Given the description of an element on the screen output the (x, y) to click on. 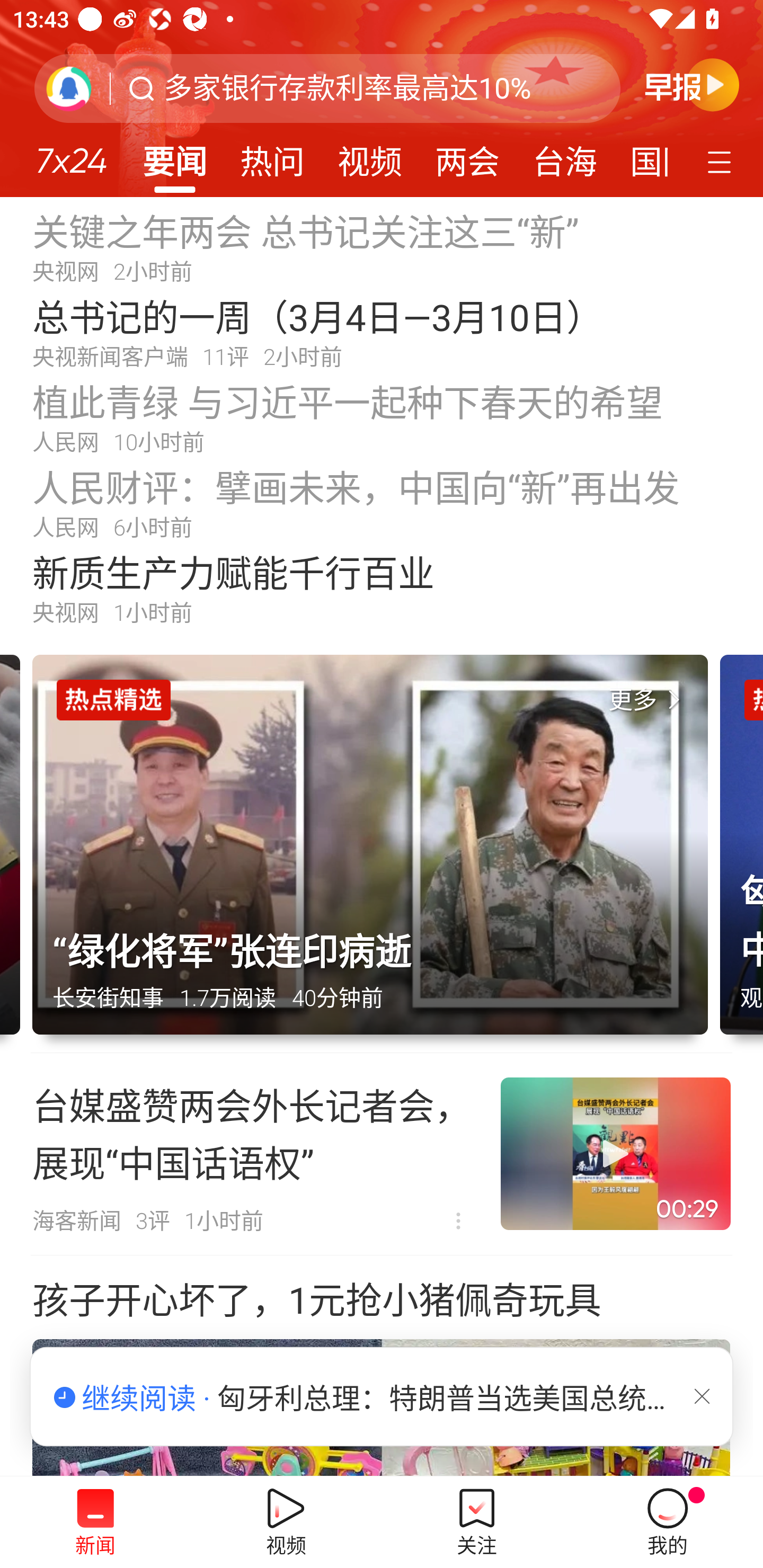
早晚报 (691, 84)
刷新 (68, 88)
多家银行存款利率最高达10% (347, 88)
7x24 (70, 154)
要闻 (174, 155)
热问 (272, 155)
视频 (369, 155)
两会 (466, 155)
台海 (564, 155)
 定制频道 (721, 160)
关键之年两会 总书记关注这三“新” 央视网 2小时前 (381, 245)
总书记的一周（3月4日—3月10日） 央视新闻客户端 11评 2小时前 (381, 331)
植此青绿 与习近平一起种下春天的希望 人民网 10小时前 (381, 416)
人民财评：擘画未来，中国向“新”再出发 人民网 6小时前 (381, 502)
新质生产力赋能千行百业 央视网 1小时前 (381, 587)
更多  “绿化将军”张连印病逝 长安街知事   1.7万阅读   40分钟前 (376, 853)
更多  (648, 699)
台媒盛赞两会外长记者会，展现“中国话语权” 海客新闻 3评 1小时前  不感兴趣 00:29 (381, 1153)
 不感兴趣 (458, 1221)
孩子开心坏了，1元抢小猪佩奇玩具 (381, 1366)
 (702, 1396)
